Given the description of an element on the screen output the (x, y) to click on. 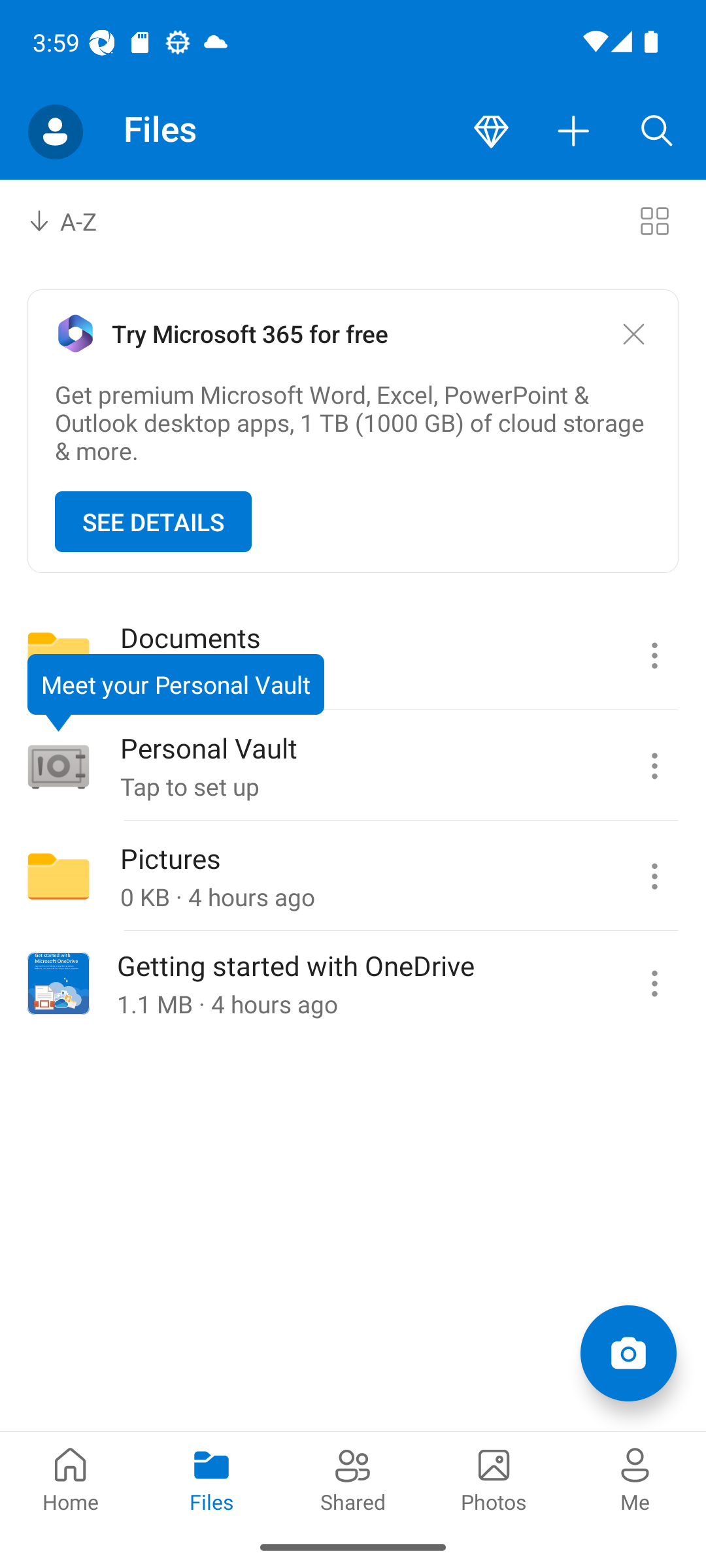
Meet your Personal Vault (175, 692)
